Given the description of an element on the screen output the (x, y) to click on. 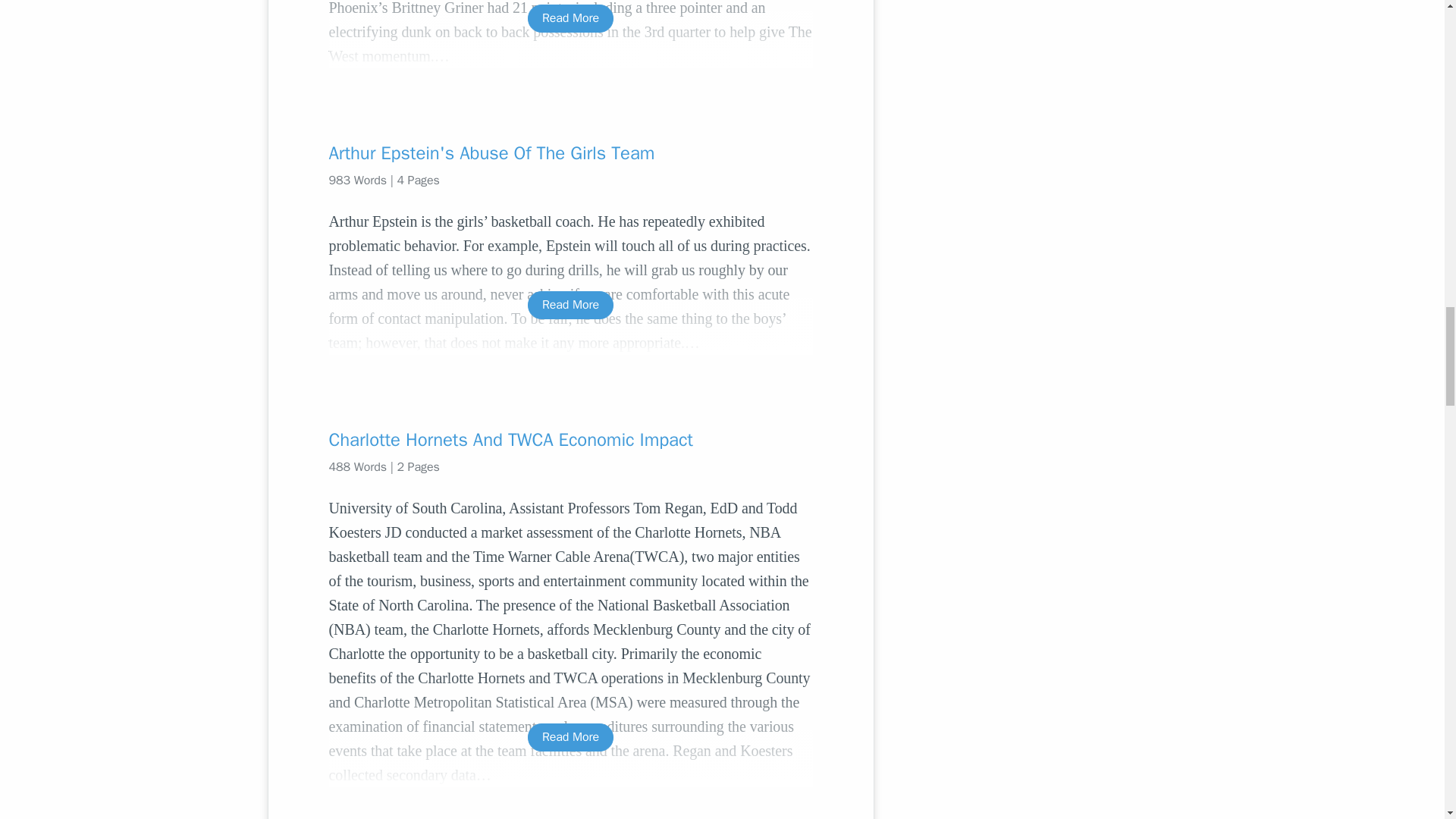
Read More (569, 737)
Read More (569, 305)
Charlotte Hornets And TWCA Economic Impact (570, 439)
Read More (569, 18)
Arthur Epstein's Abuse Of The Girls Team (570, 152)
